Given the description of an element on the screen output the (x, y) to click on. 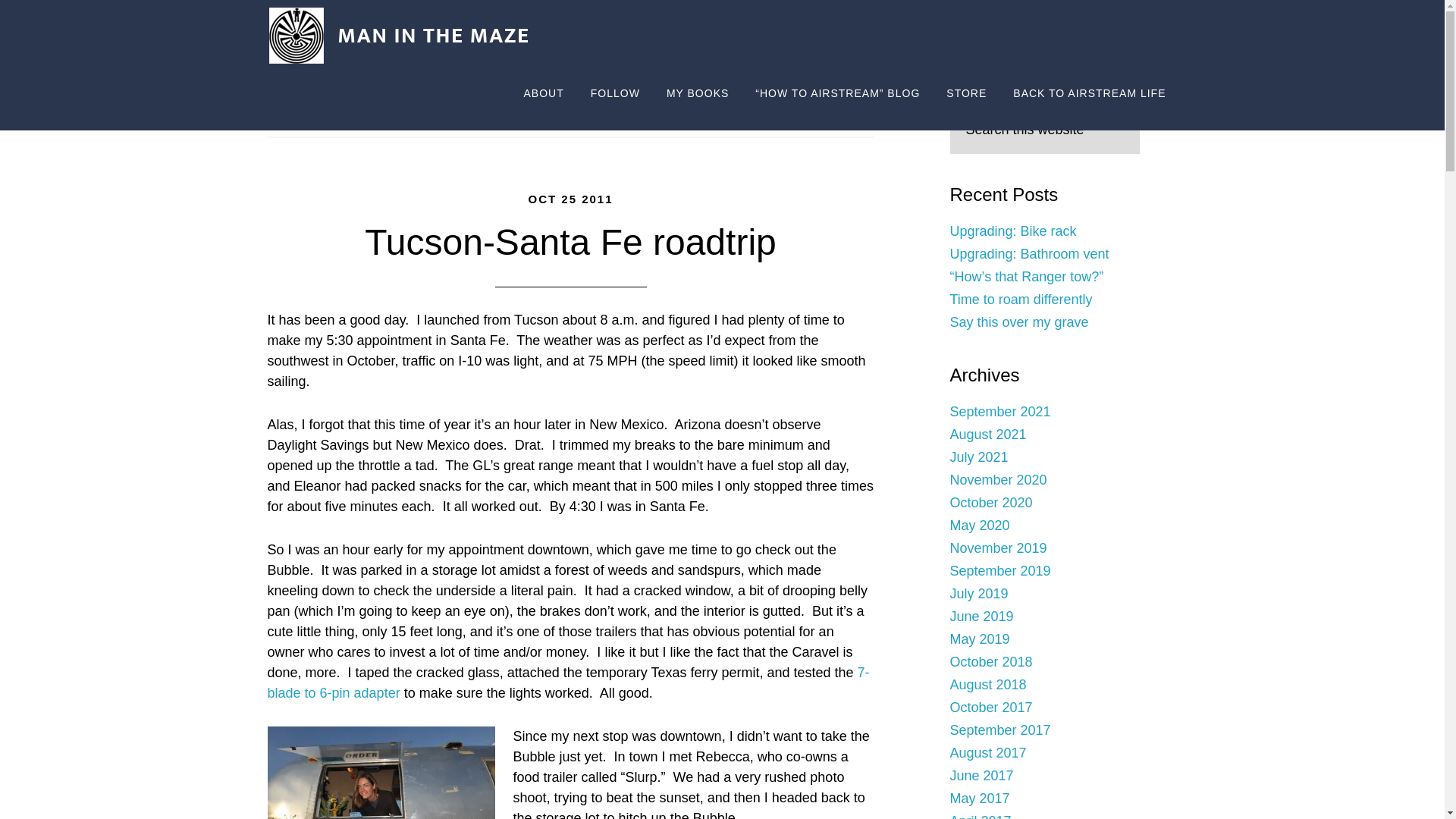
May 2019 (979, 639)
7-blade to 6-pin adapter (567, 683)
Airstream (446, 117)
Say this over my grave (1018, 322)
FOLLOW (614, 93)
August 2018 (987, 684)
BACK TO AIRSTREAM LIFE (1088, 93)
Upgrading: Bathroom vent (1028, 253)
September 2021 (999, 411)
